Given the description of an element on the screen output the (x, y) to click on. 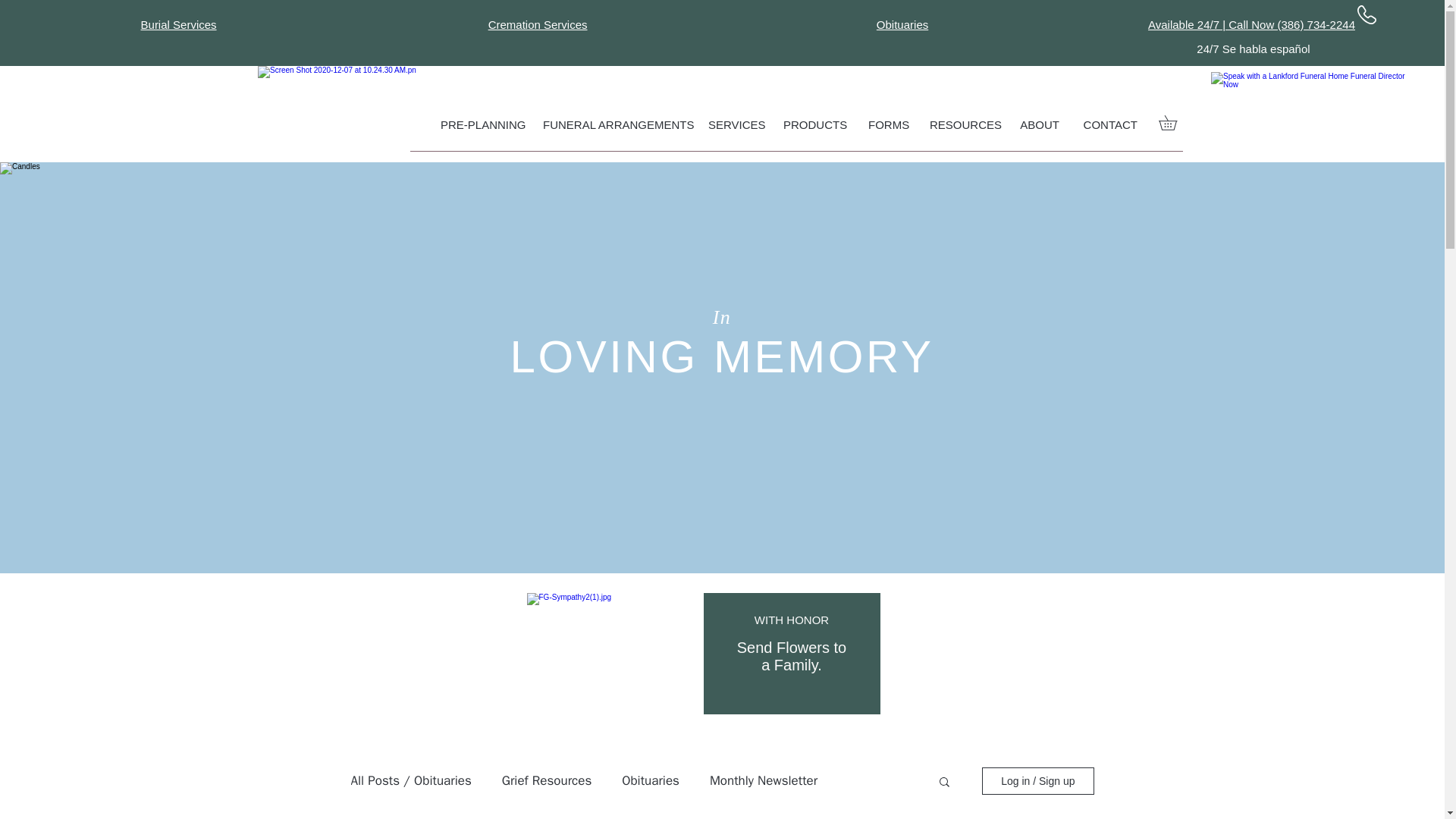
FORMS (887, 125)
FUNERAL ARRANGEMENTS (614, 125)
Obituaries (902, 24)
Burial Services (178, 24)
Cremation Services (537, 24)
